Given the description of an element on the screen output the (x, y) to click on. 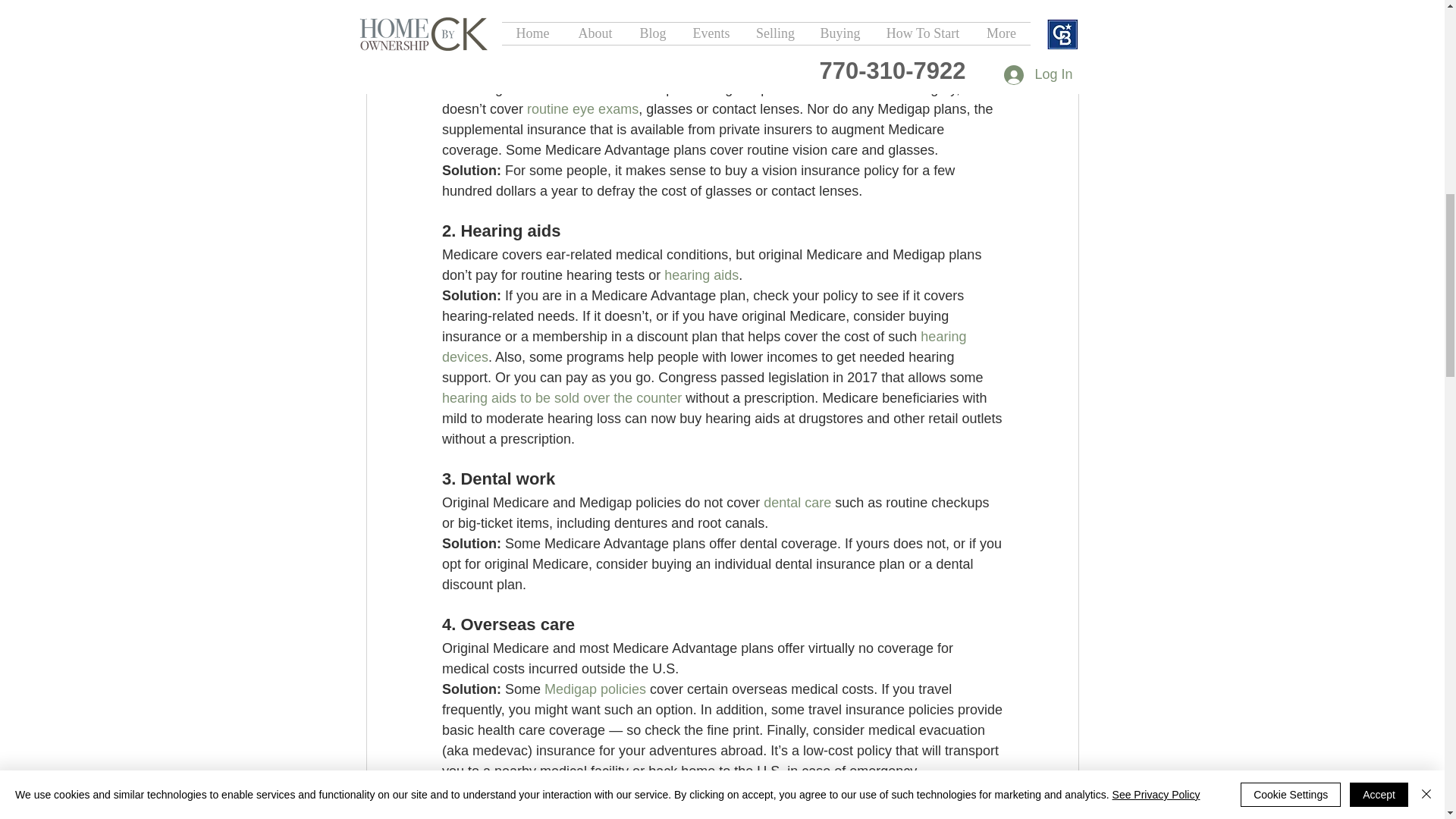
Medigap policies (595, 688)
dental care (796, 502)
AARP (555, 24)
hearing aids to be sold over the counter (561, 397)
hearing aids (700, 274)
routine eye exams (583, 109)
hearing devices (705, 346)
